Given the description of an element on the screen output the (x, y) to click on. 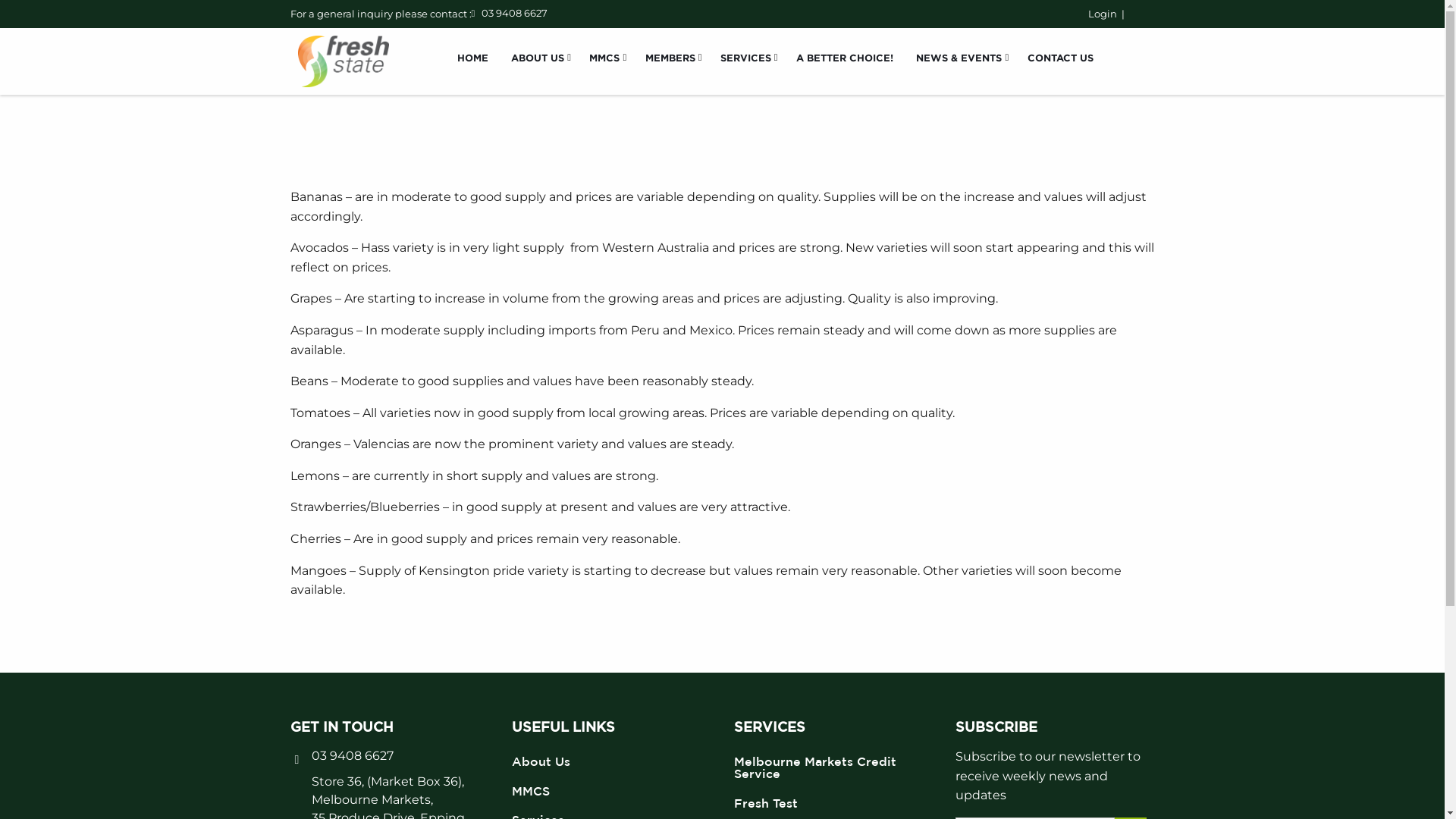
CONTACT US Element type: text (1059, 57)
MMCS Element type: text (611, 790)
Fresh Test Element type: text (833, 802)
About Us Element type: text (611, 760)
NEWS & EVENTS Element type: text (959, 57)
MEMBERS Element type: text (670, 57)
03 9408 6627 Element type: text (514, 12)
Login Element type: text (1101, 13)
SERVICES Element type: text (746, 57)
HOME Element type: text (472, 57)
ABOUT US Element type: text (538, 57)
03 9408 6627 Element type: text (351, 755)
Melbourne Markets Credit Service Element type: text (833, 766)
MMCS Element type: text (605, 57)
A BETTER CHOICE! Element type: text (844, 57)
